Given the description of an element on the screen output the (x, y) to click on. 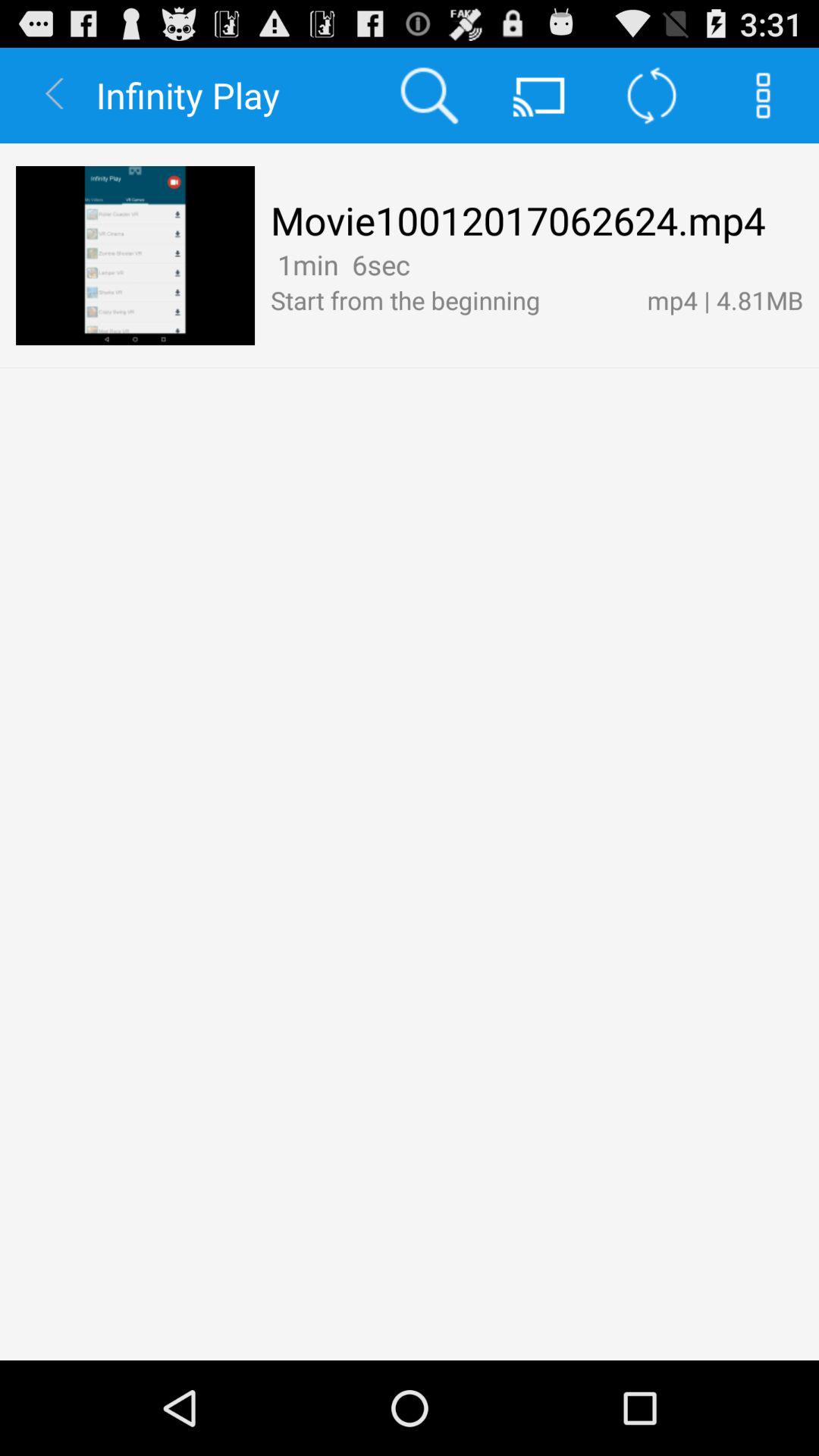
turn off the app to the right of infinity play icon (428, 95)
